Given the description of an element on the screen output the (x, y) to click on. 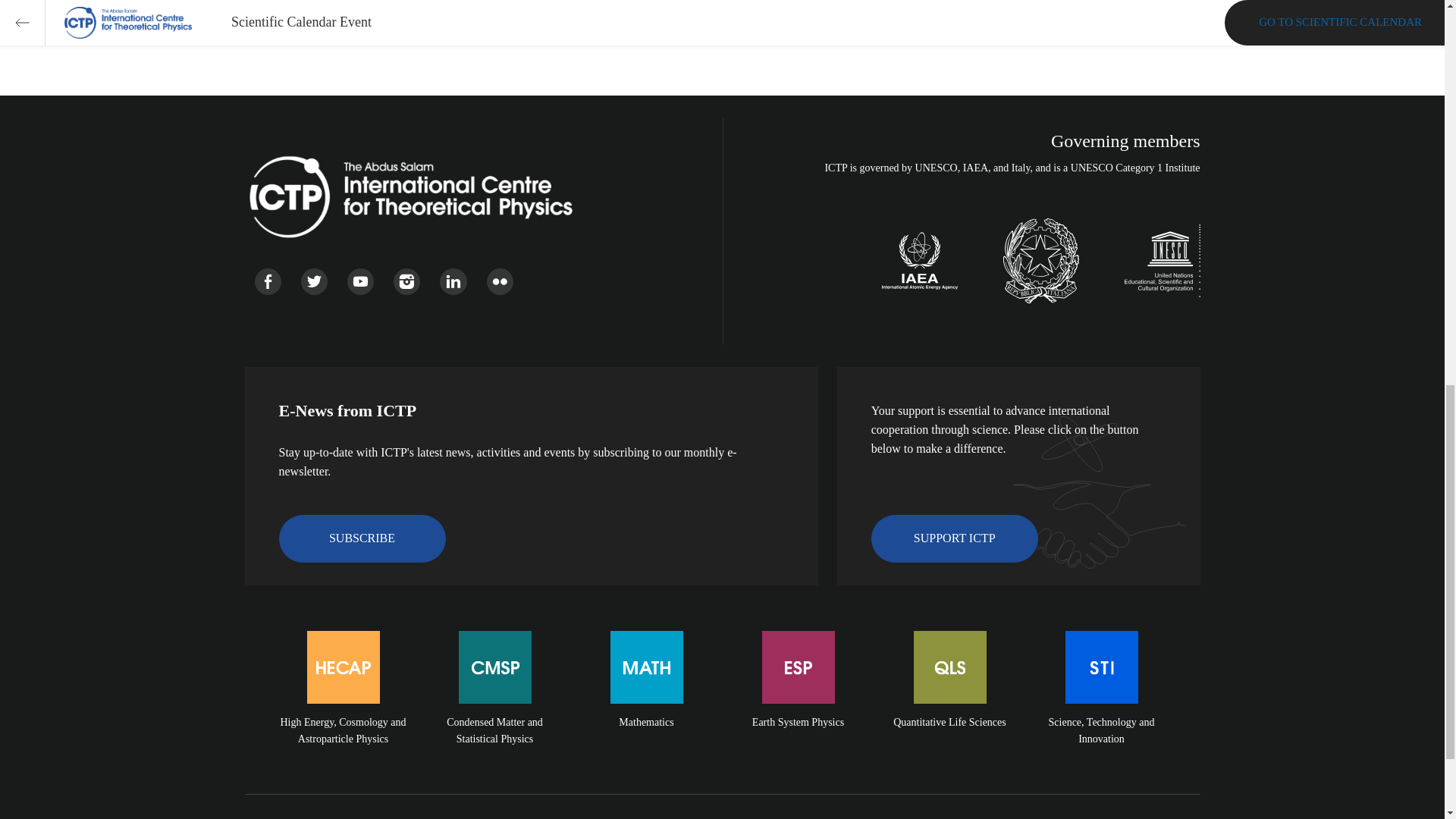
SUBSCRIBE (362, 538)
Instagram (406, 281)
Flickr (499, 281)
Facebook (267, 281)
Mathematics (646, 706)
High Energy, Cosmology and Astroparticle Physics (343, 706)
Roles (447, 7)
Youtube (360, 281)
Condensed Matter and Statistical Physics (494, 706)
Linkedin (452, 281)
Science, Technology and Innovation (1101, 706)
Earth System Physics (798, 706)
Quantitative Life Sciences (949, 706)
Twitter (314, 281)
SUPPORT ICTP (954, 538)
